Given the description of an element on the screen output the (x, y) to click on. 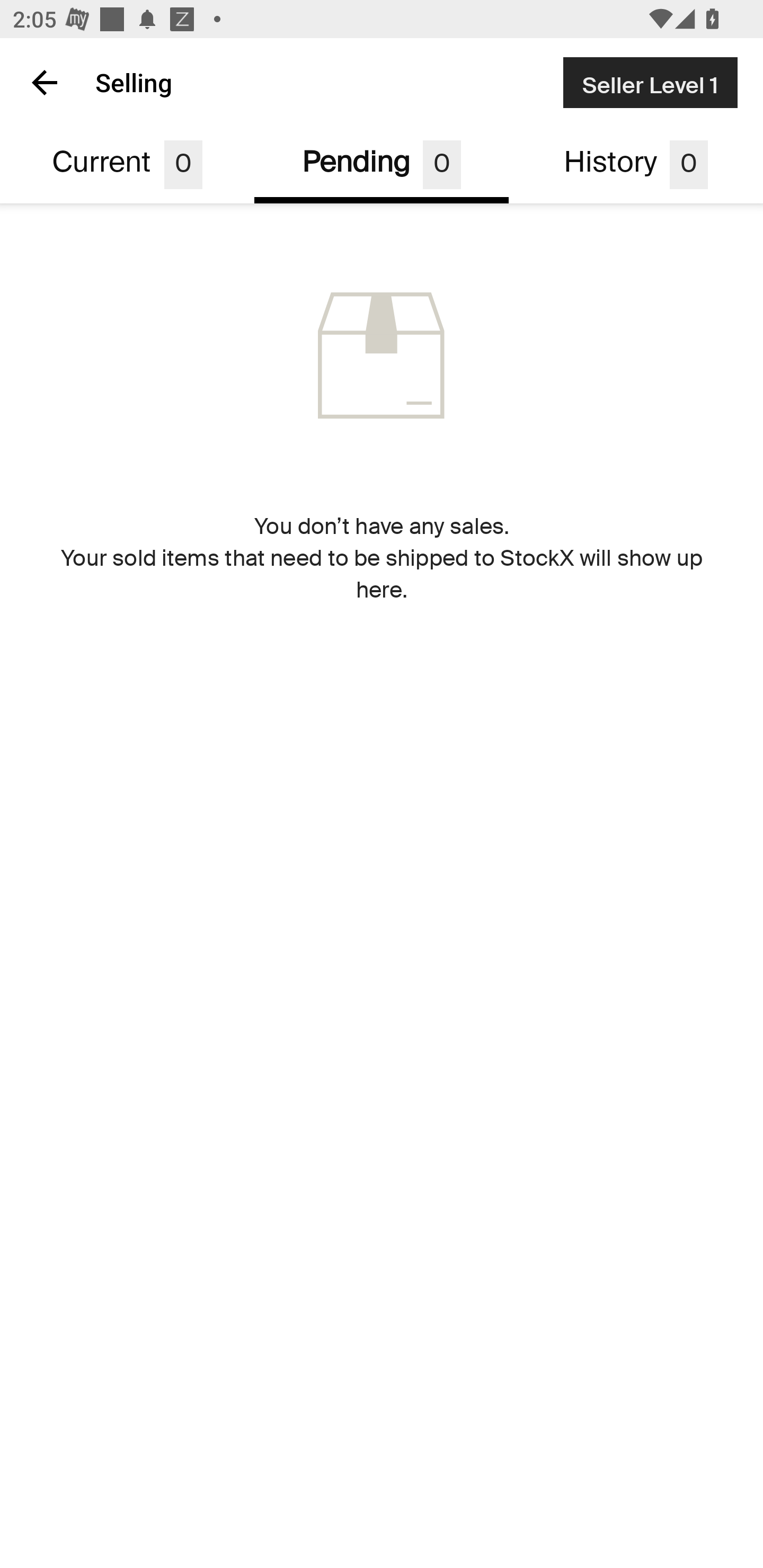
Navigate up (44, 82)
Seller Level 1 (650, 82)
Current 0 (127, 165)
History 0 (635, 165)
